Given the description of an element on the screen output the (x, y) to click on. 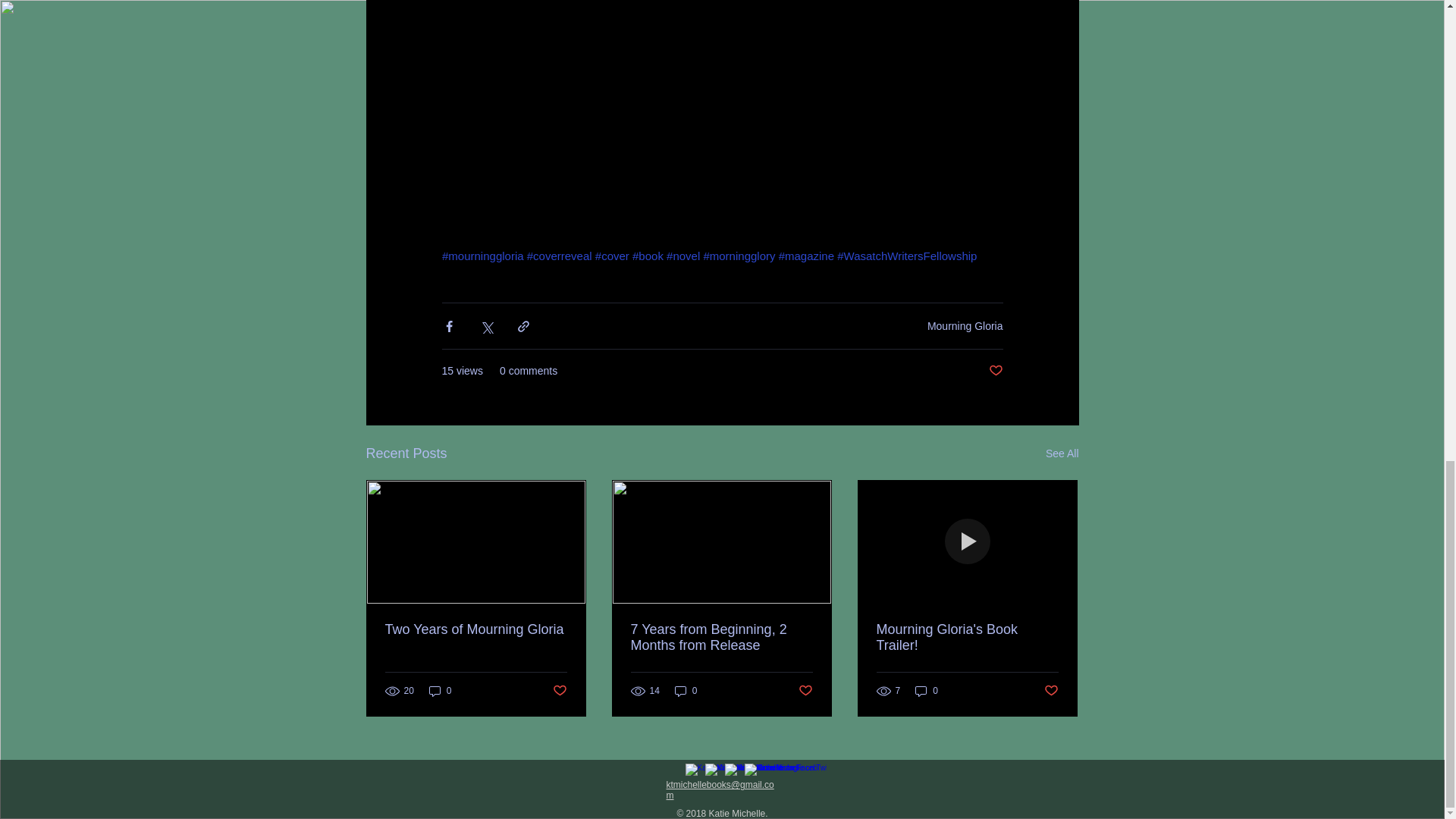
Mourning Gloria's Book Trailer! (967, 637)
Post not marked as liked (804, 691)
Post not marked as liked (995, 371)
7 Years from Beginning, 2 Months from Release (721, 637)
Post not marked as liked (558, 691)
0 (926, 690)
See All (1061, 454)
0 (685, 690)
0 (440, 690)
Mourning Gloria (965, 326)
